Given the description of an element on the screen output the (x, y) to click on. 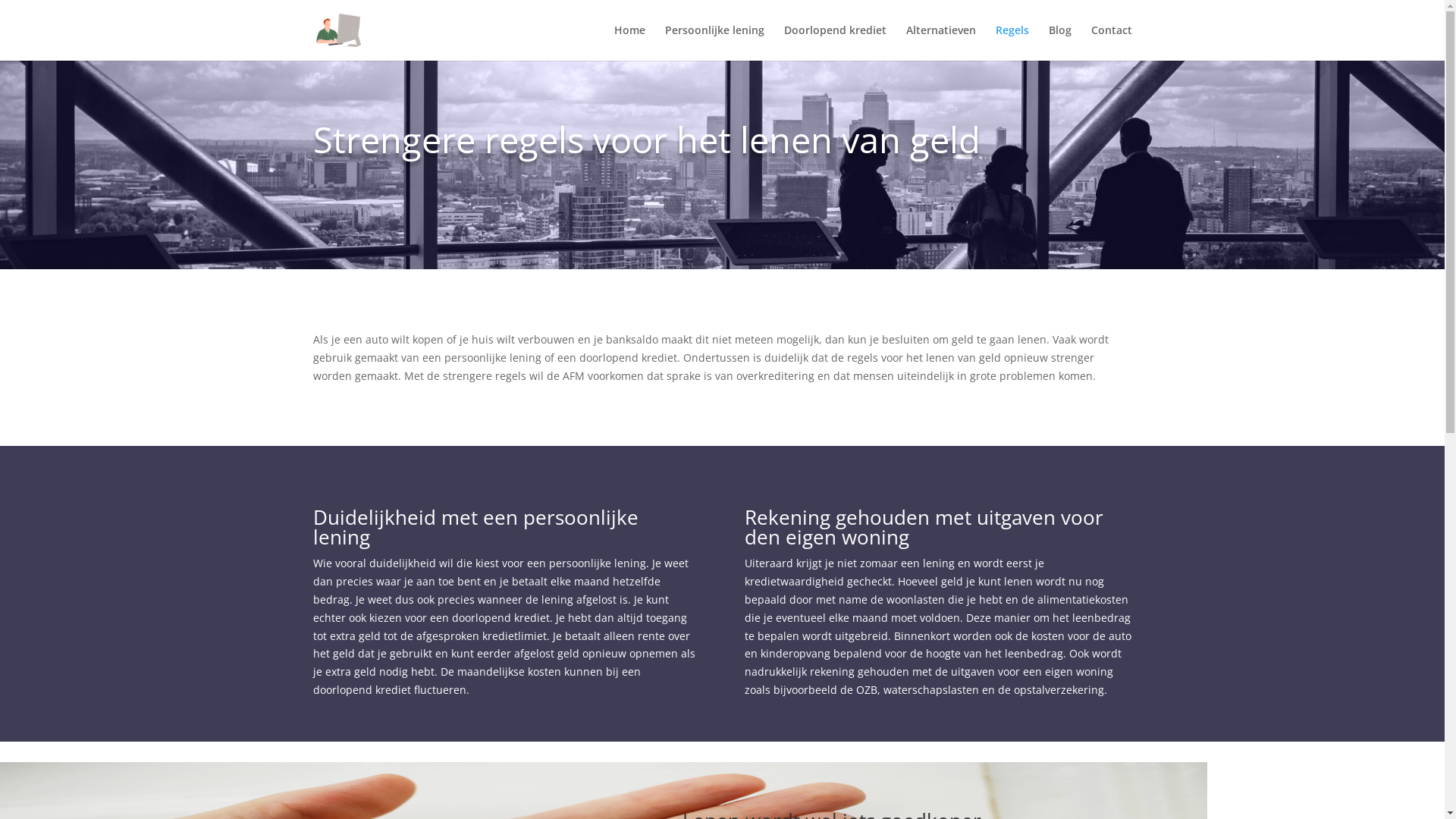
Contact Element type: text (1110, 42)
Regels Element type: text (1011, 42)
Doorlopend krediet Element type: text (835, 42)
Home Element type: text (629, 42)
Blog Element type: text (1059, 42)
Persoonlijke lening Element type: text (713, 42)
Alternatieven Element type: text (940, 42)
